Given the description of an element on the screen output the (x, y) to click on. 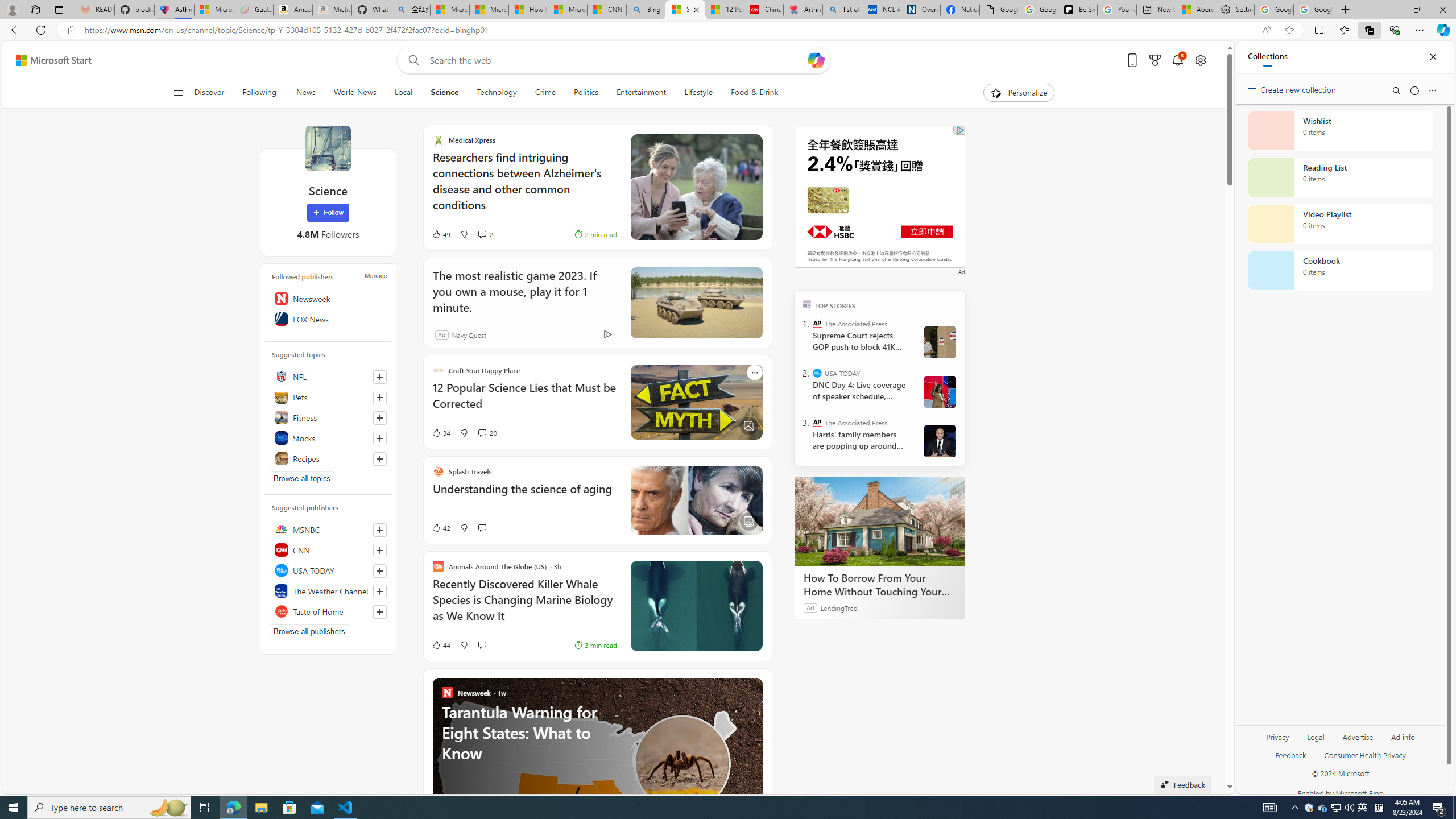
World News (354, 92)
Enter your search term (617, 59)
View comments 2 Comment (472, 233)
49 Like (427, 233)
Follow this source (379, 611)
Skip to footer (46, 59)
FOX News (327, 318)
12 Popular Science Lies that Must be Corrected (724, 9)
